Given the description of an element on the screen output the (x, y) to click on. 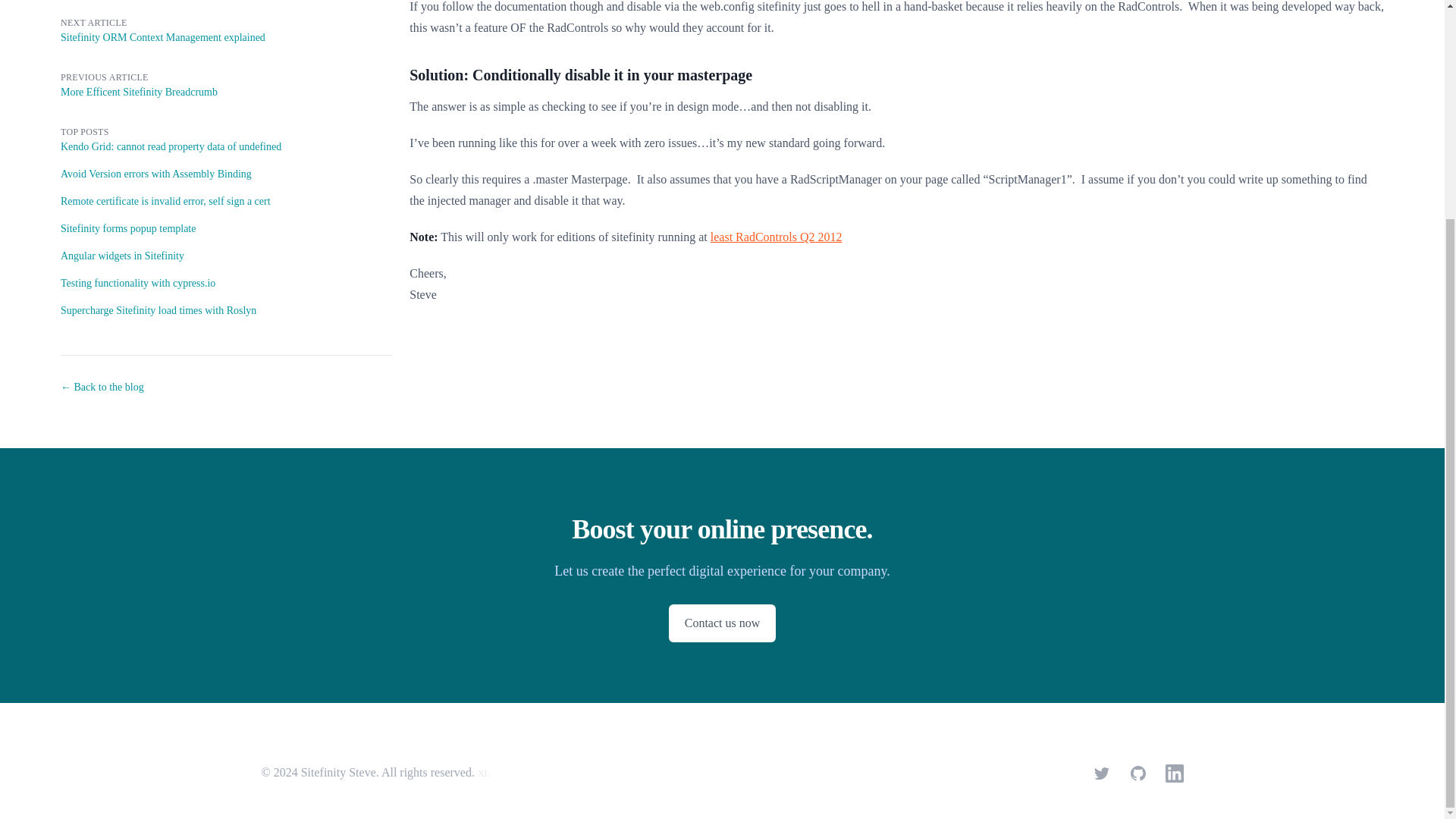
Twitter (1100, 773)
GitHub (1137, 773)
Testing functionality with cypress.io (226, 283)
Sitefinity ORM Context Management explained (162, 37)
LinkedIn (1173, 773)
Sitefinity forms popup template (226, 228)
Remote certificate is invalid error, self sign a cert (226, 201)
Contact us now (722, 623)
Angular widgets in Sitefinity (226, 255)
least RadControls Q2 2012 (776, 236)
